Given the description of an element on the screen output the (x, y) to click on. 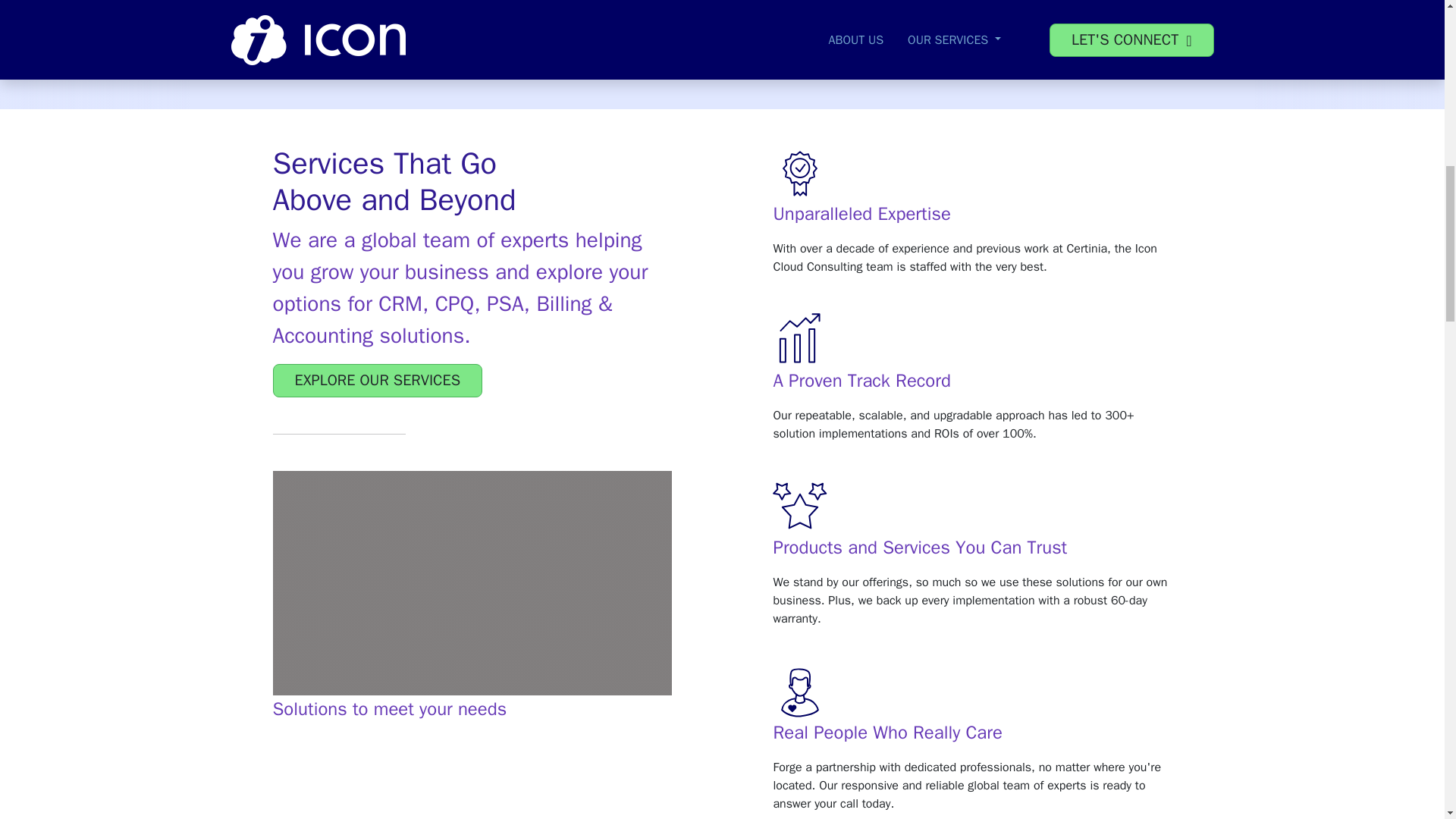
EXPLORE OUR SERVICES (378, 380)
